Given the description of an element on the screen output the (x, y) to click on. 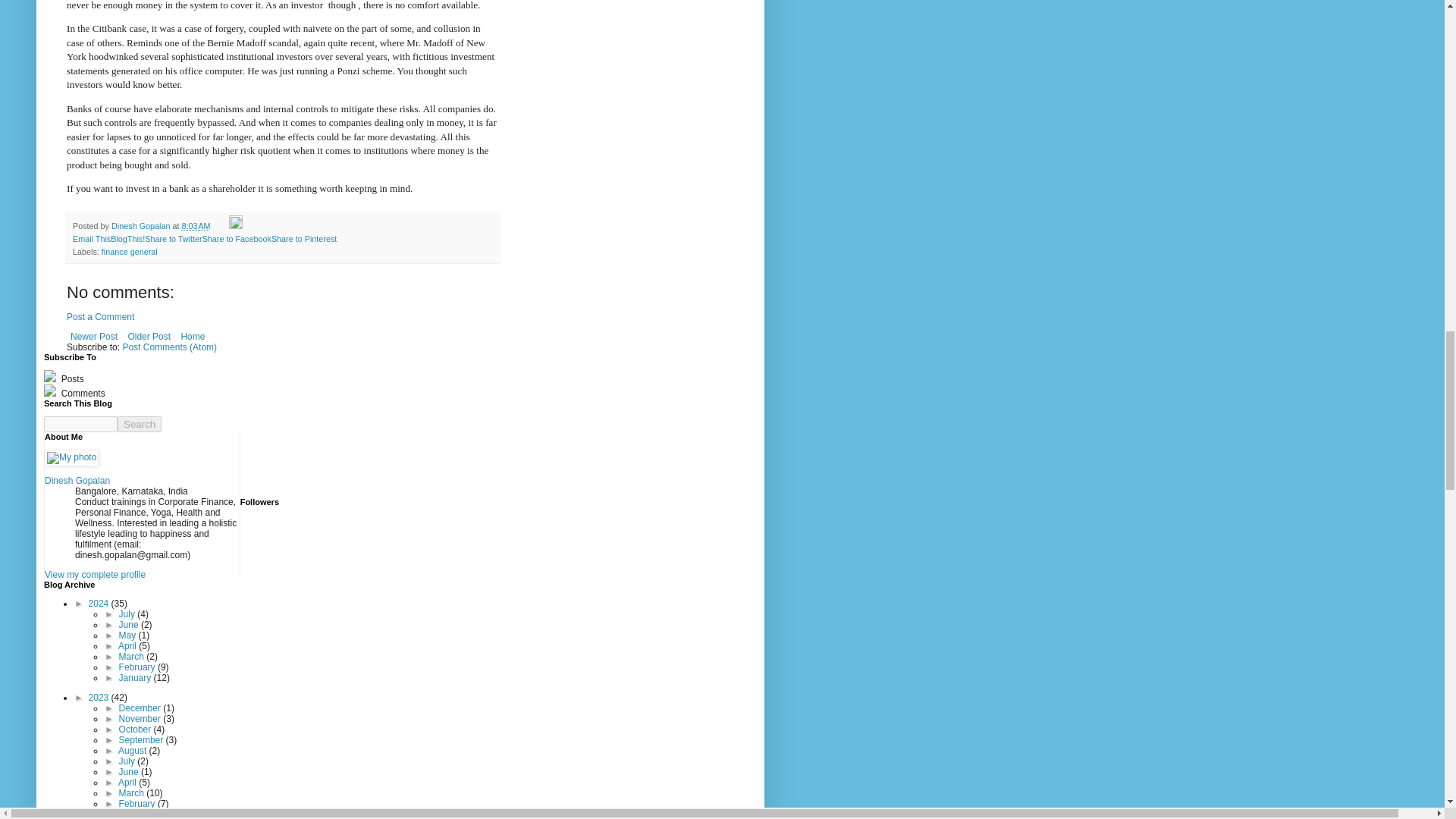
Search (139, 424)
finance general (129, 251)
Older Post (148, 336)
Share to Facebook (236, 238)
Post a Comment (99, 317)
Share to Pinterest (303, 238)
Search (139, 424)
Edit Post (235, 225)
Email This (91, 238)
Email Post (220, 225)
BlogThis! (127, 238)
Share to Facebook (236, 238)
Dinesh Gopalan (141, 225)
Home (192, 336)
Share to Pinterest (303, 238)
